Given the description of an element on the screen output the (x, y) to click on. 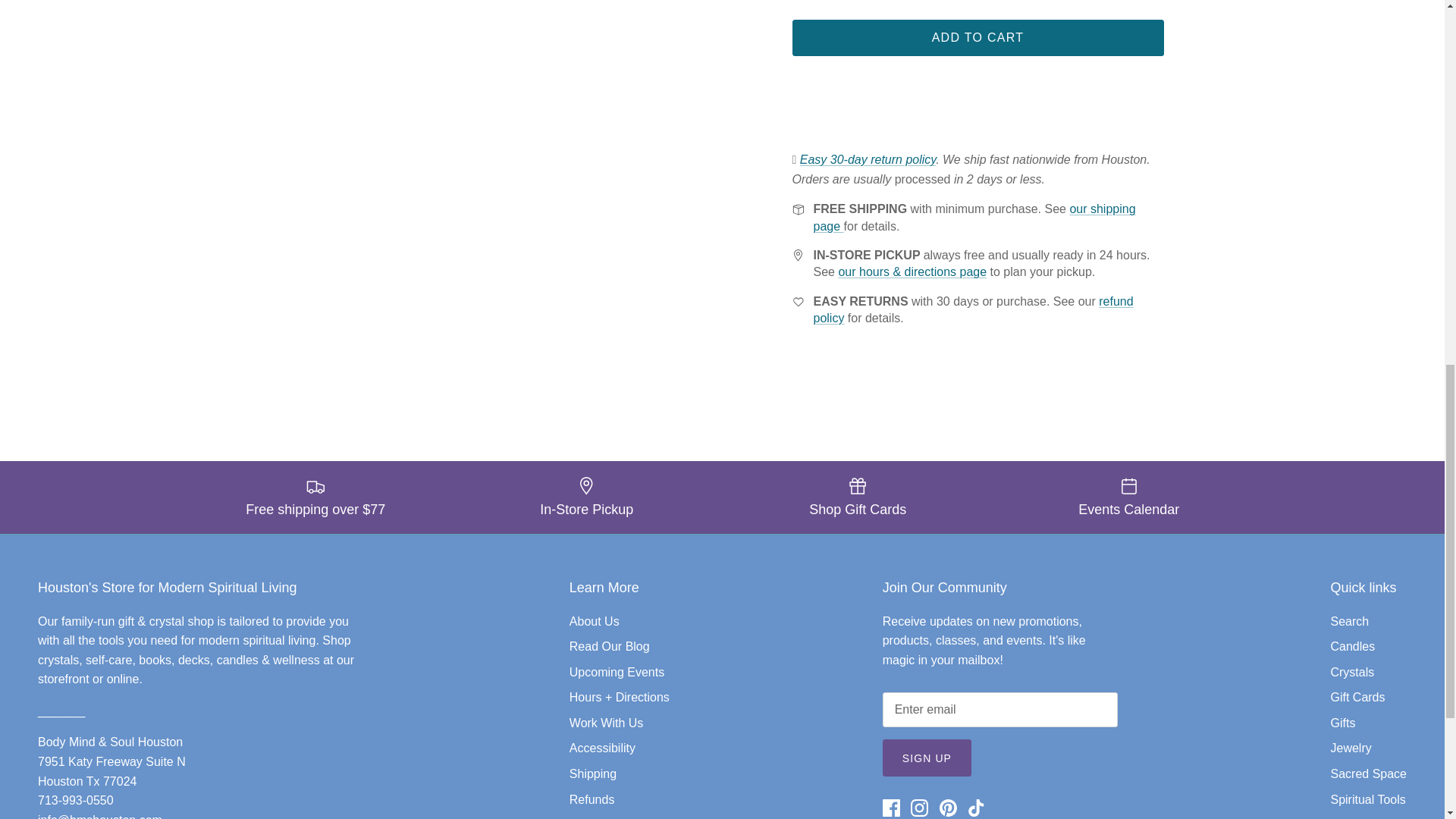
Pinterest (947, 807)
Our Shipping Policy (973, 216)
Refund Policy (972, 309)
Shipping Policy (867, 159)
Facebook (890, 807)
Instagram (919, 807)
